Given the description of an element on the screen output the (x, y) to click on. 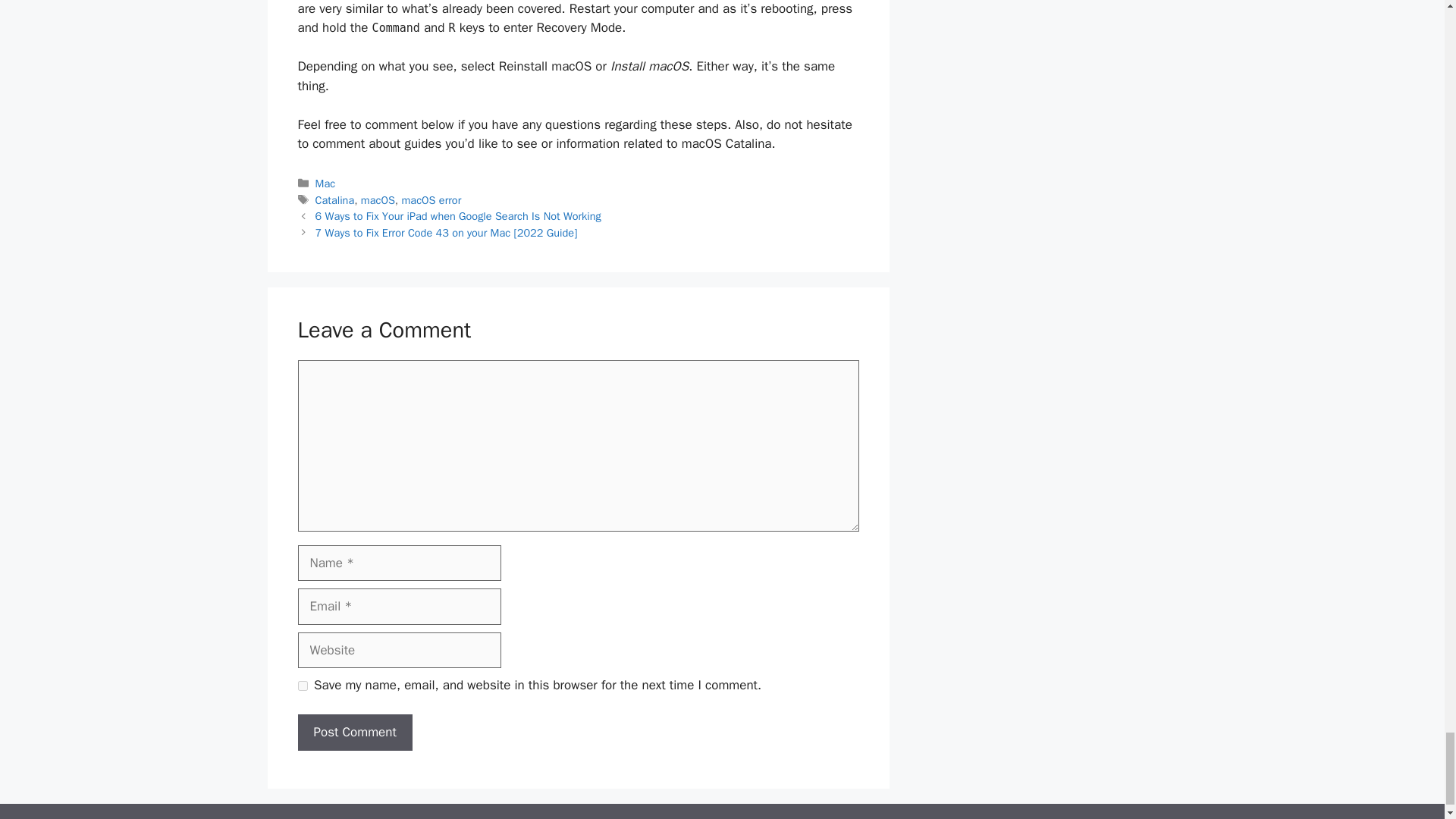
Mac (325, 183)
macOS error (431, 199)
6 Ways to Fix Your iPad when Google Search Is Not Working (458, 215)
Post Comment (354, 732)
Catalina (335, 199)
yes (302, 685)
macOS (377, 199)
